Given the description of an element on the screen output the (x, y) to click on. 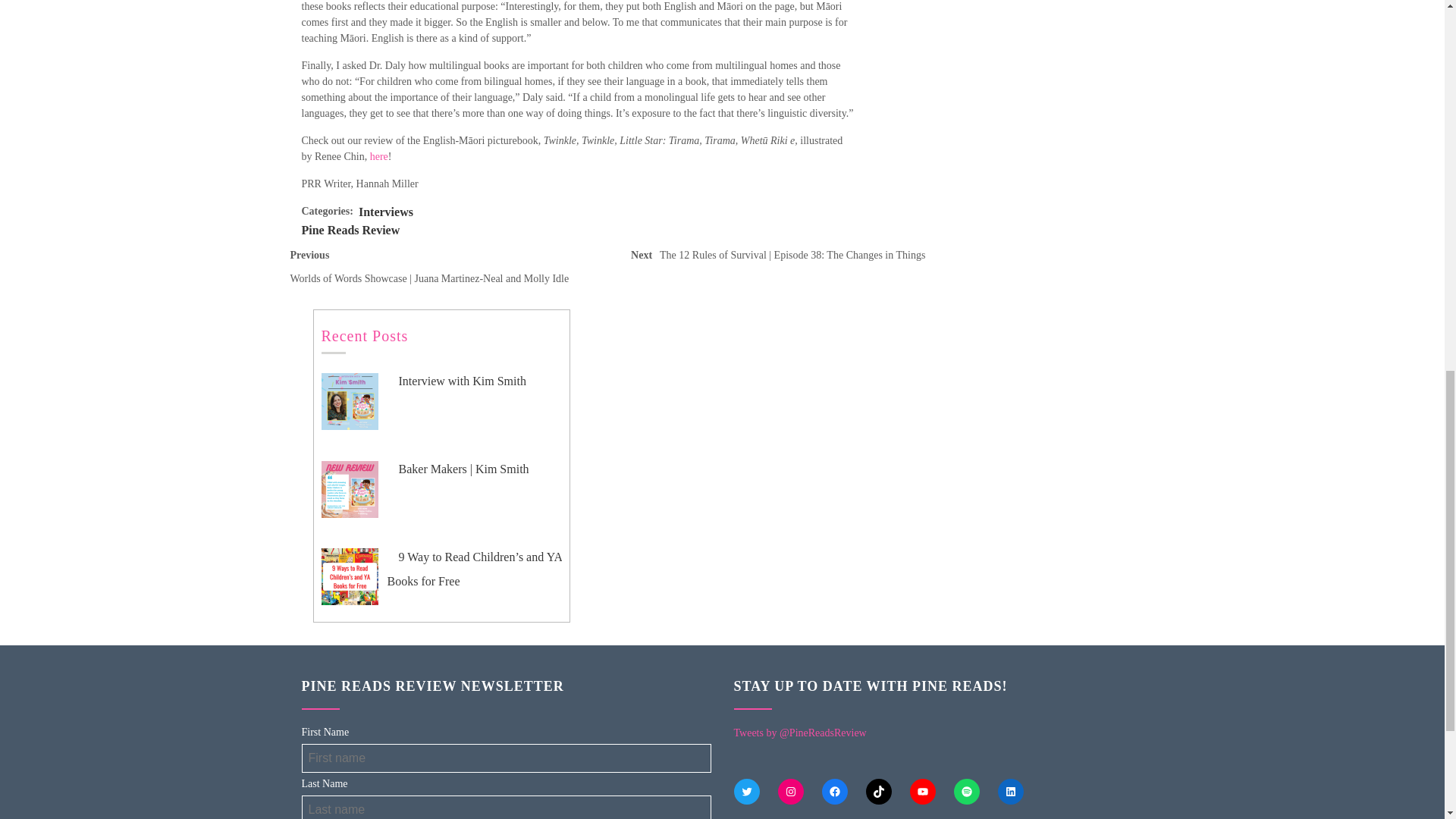
Interviews (385, 211)
Interview with Kim Smith (456, 380)
Pine Reads Review (350, 229)
here (378, 156)
